Given the description of an element on the screen output the (x, y) to click on. 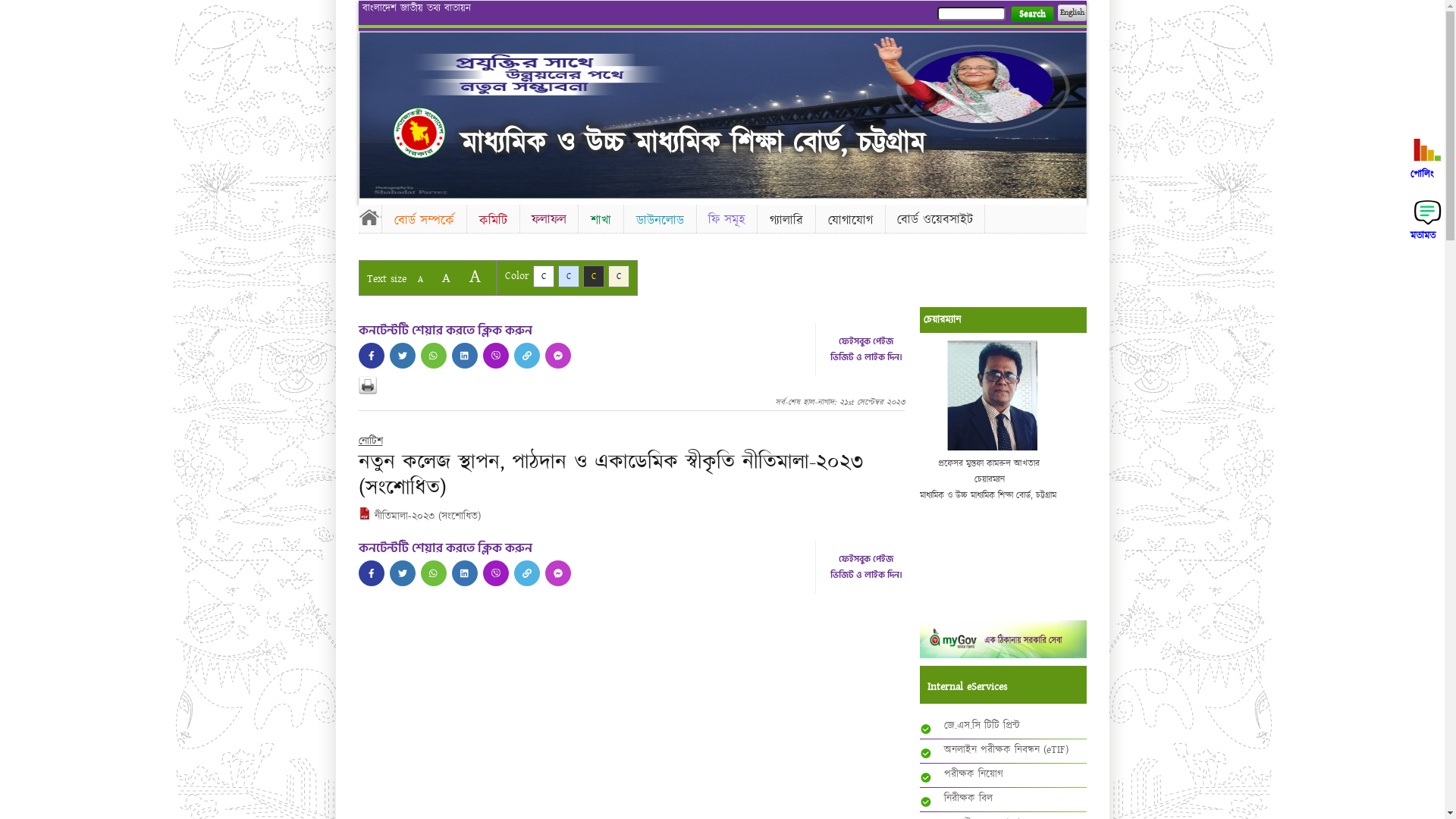
A Element type: text (474, 276)
C Element type: text (568, 276)
Internal eServices Element type: text (1005, 686)
Home Element type: hover (368, 216)
A Element type: text (419, 279)
Home Element type: hover (418, 132)
C Element type: text (592, 276)
Search Element type: text (1031, 13)
English Element type: text (1071, 12)
C Element type: text (618, 276)
C Element type: text (542, 276)
A Element type: text (445, 277)
